Given the description of an element on the screen output the (x, y) to click on. 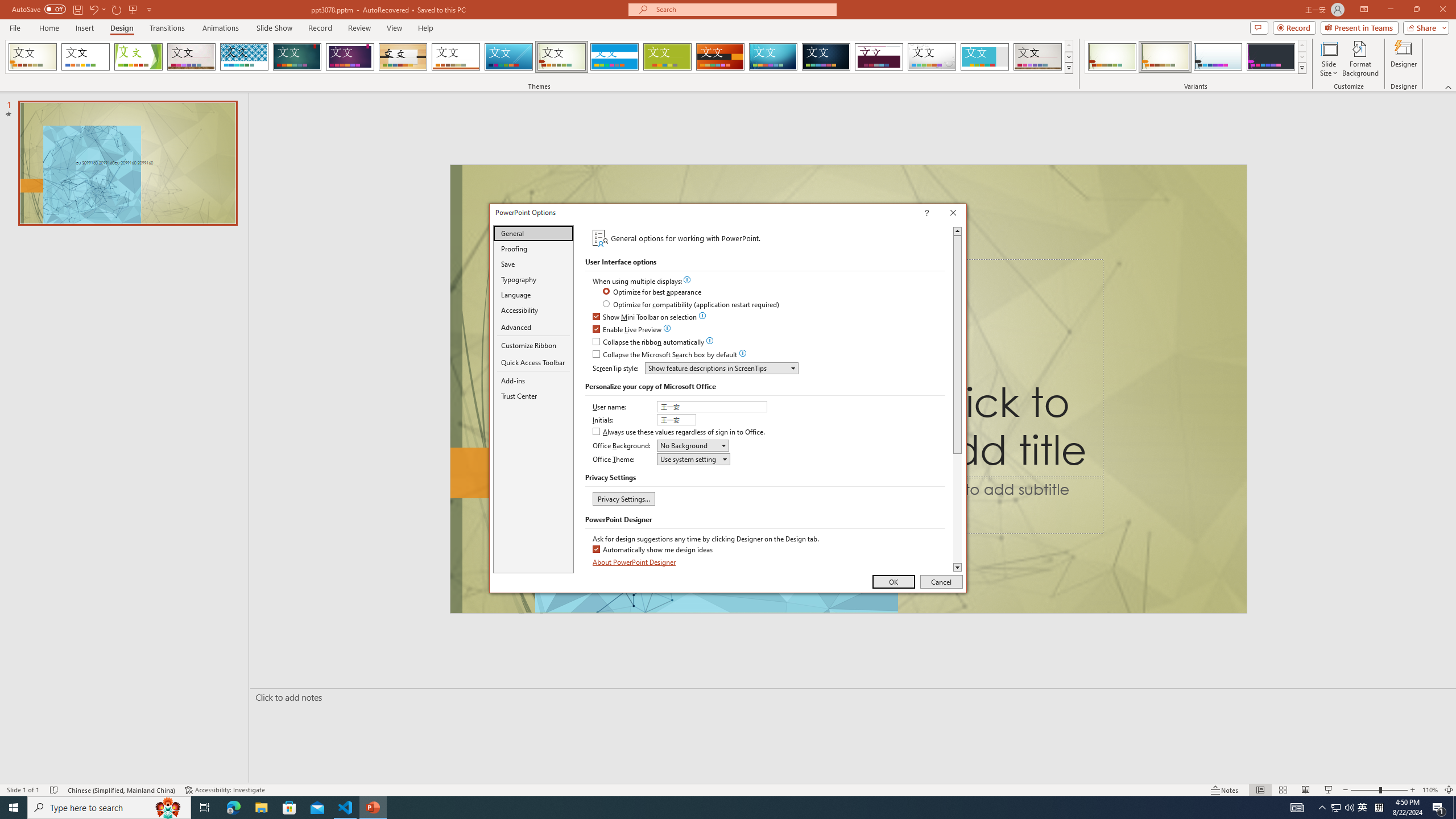
Wisp Variant 4 (1270, 56)
Language (533, 294)
Berlin Loading Preview... (720, 56)
User name (712, 406)
Zoom 110% (1362, 807)
Privacy Settings... (1430, 790)
PowerPoint - 1 running window (623, 498)
Notification Chevron (373, 807)
Context help (1322, 807)
